Given the description of an element on the screen output the (x, y) to click on. 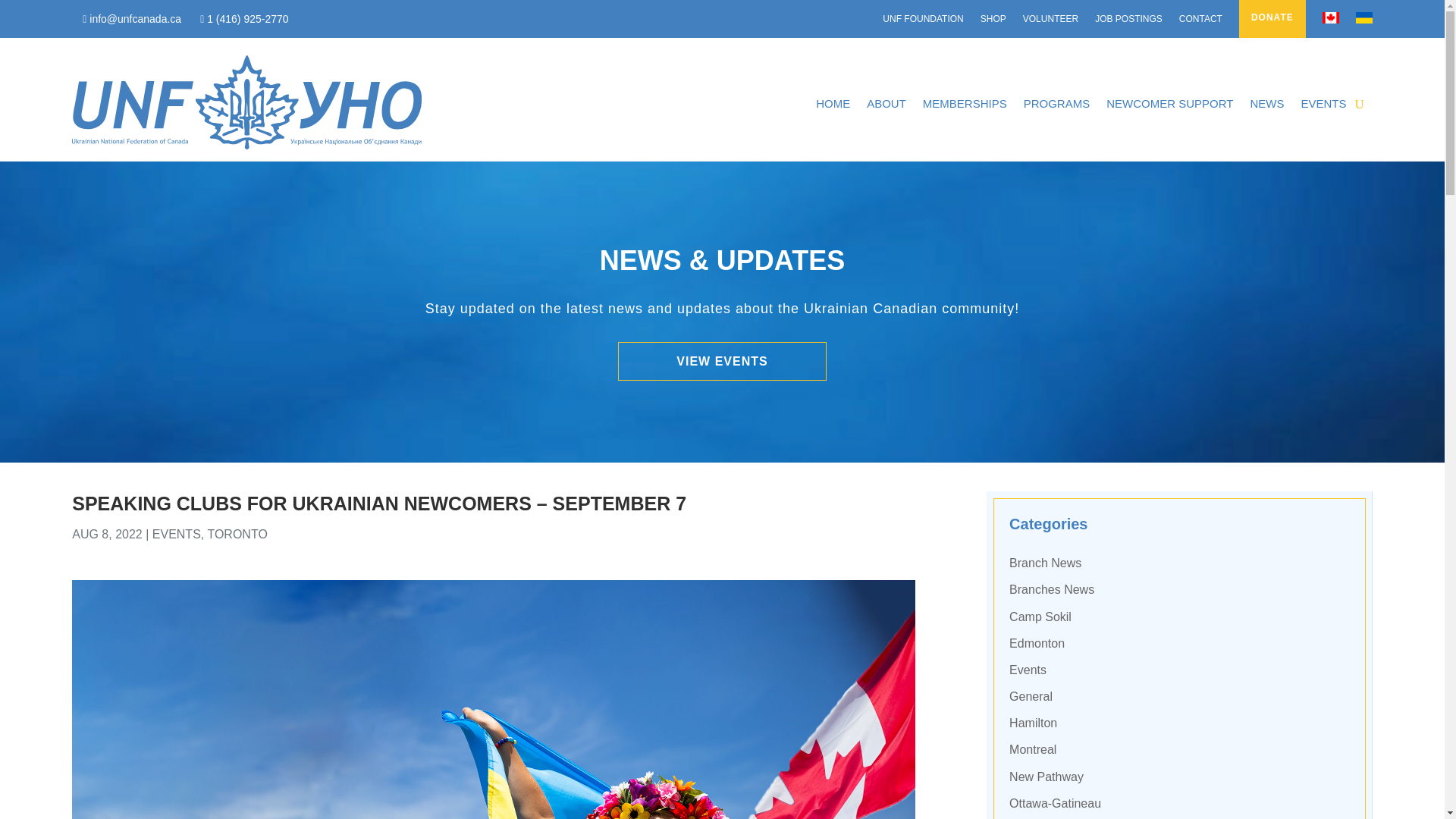
HOME (832, 102)
MEMBERSHIPS (965, 102)
UNF FOUNDATION (922, 21)
CONTACT (1201, 21)
JOB POSTINGS (1127, 21)
ABOUT (885, 102)
NEWCOMER SUPPORT (1169, 102)
VOLUNTEER (1050, 21)
UNF Ukrainian National Federation of Canada (246, 102)
SHOP (992, 21)
DONATE (1272, 22)
PROGRAMS (1056, 102)
